Given the description of an element on the screen output the (x, y) to click on. 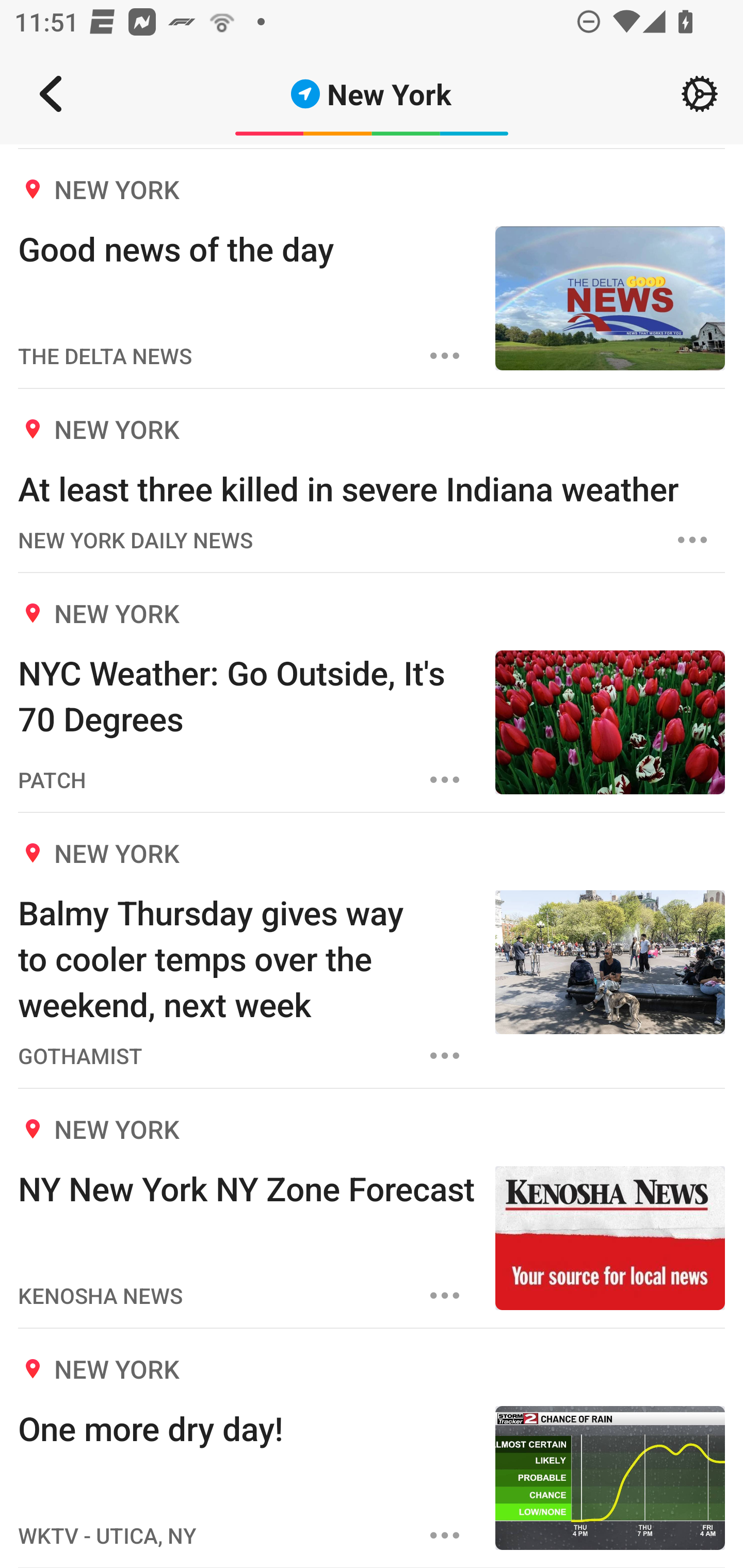
Navigate up (50, 93)
Setting (699, 93)
Options (444, 355)
Options (692, 540)
Options (444, 779)
Options (444, 1055)
Options (444, 1295)
Options (444, 1535)
